Given the description of an element on the screen output the (x, y) to click on. 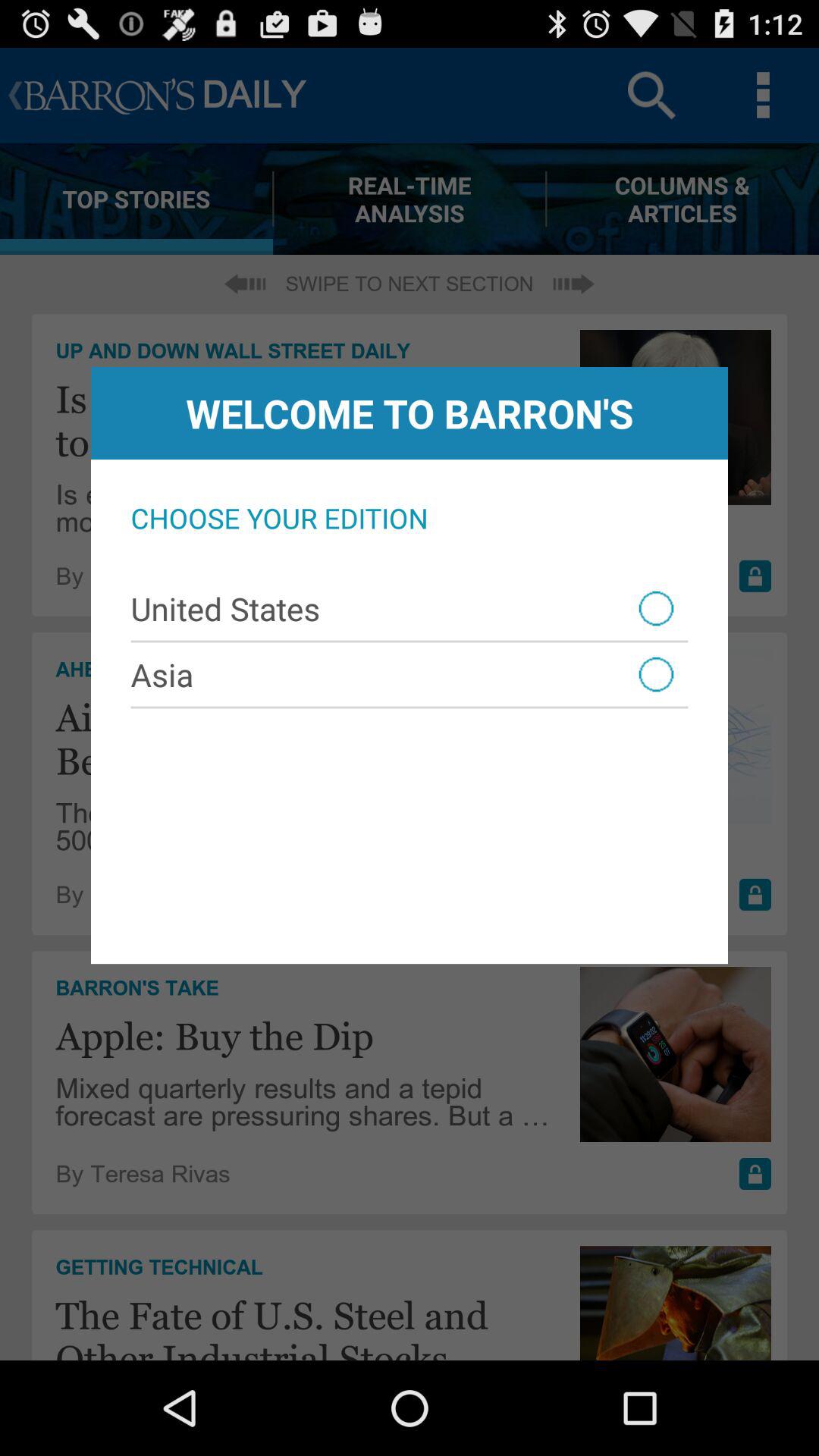
tap united states item (409, 608)
